Given the description of an element on the screen output the (x, y) to click on. 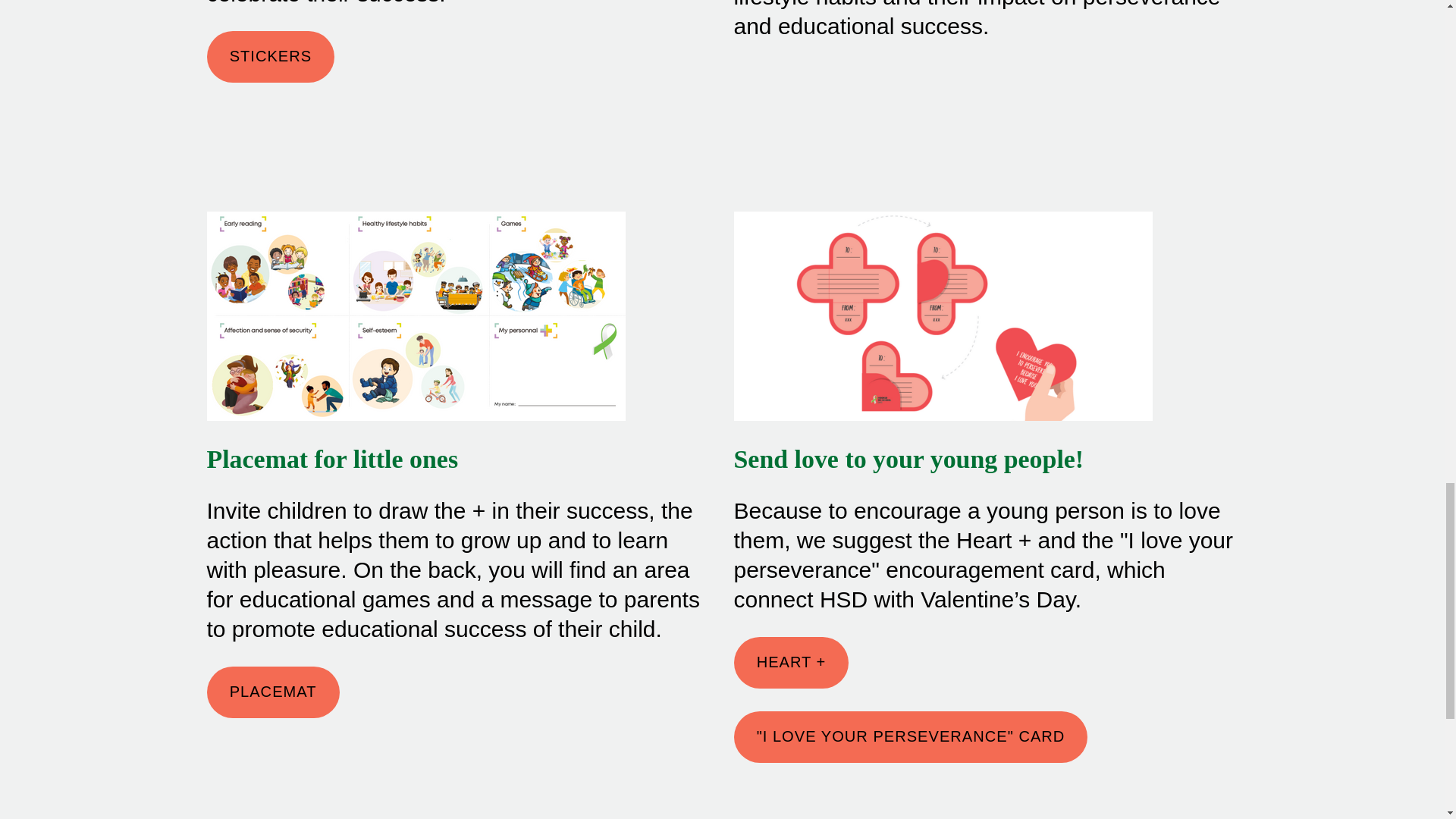
"I LOVE YOUR PERSEVERANCE" CARD (910, 736)
PLACEMAT (272, 692)
STICKERS (270, 56)
